Given the description of an element on the screen output the (x, y) to click on. 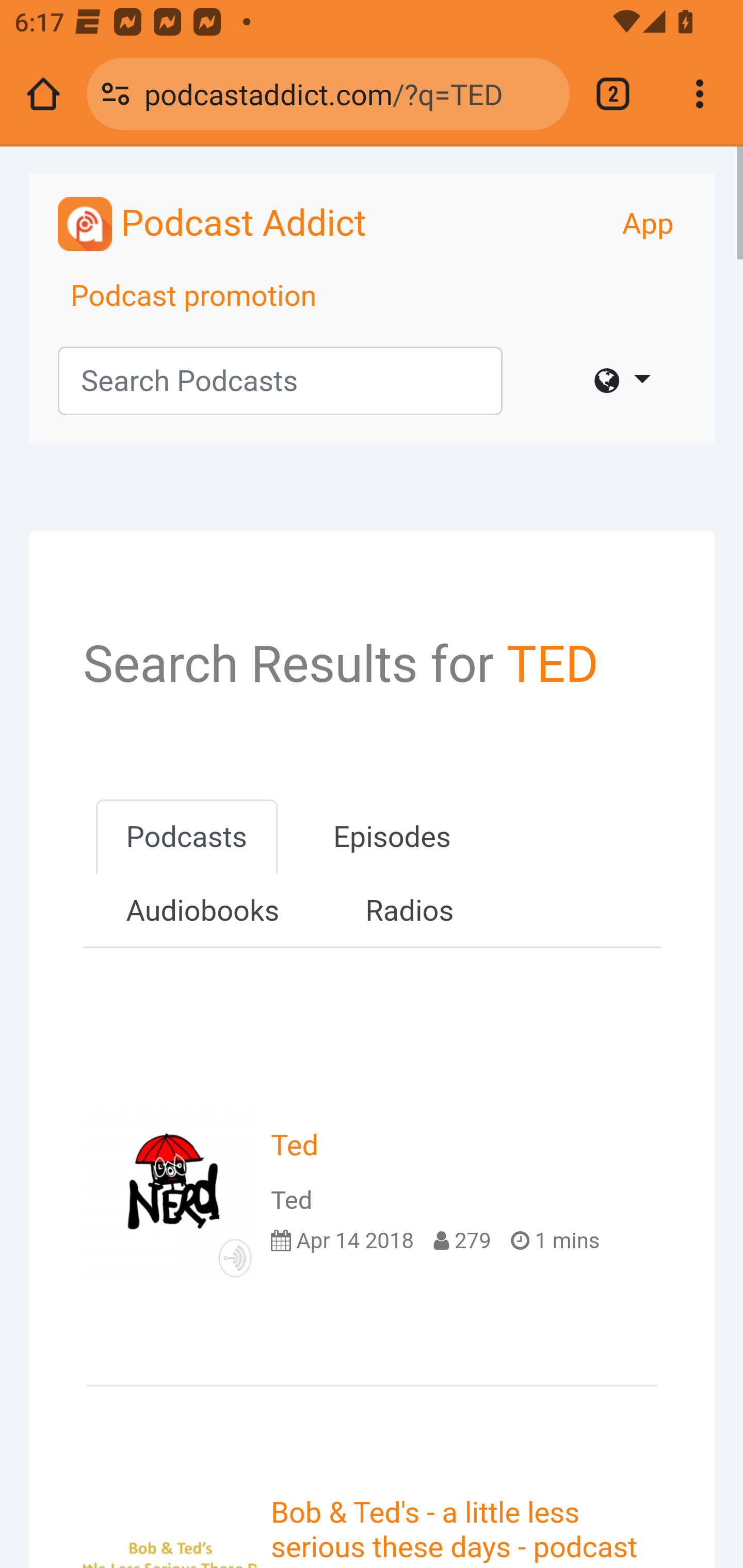
Open the home page (43, 93)
Connection is secure (115, 93)
Switch or close tabs (612, 93)
Customize and control Google Chrome (699, 93)
podcastaddict.com/?q=TED (349, 92)
App (648, 224)
Podcast promotion (193, 296)
 (622, 380)
Podcasts (185, 836)
Episodes (391, 836)
Audiobooks (201, 910)
Radios (409, 910)
